Given the description of an element on the screen output the (x, y) to click on. 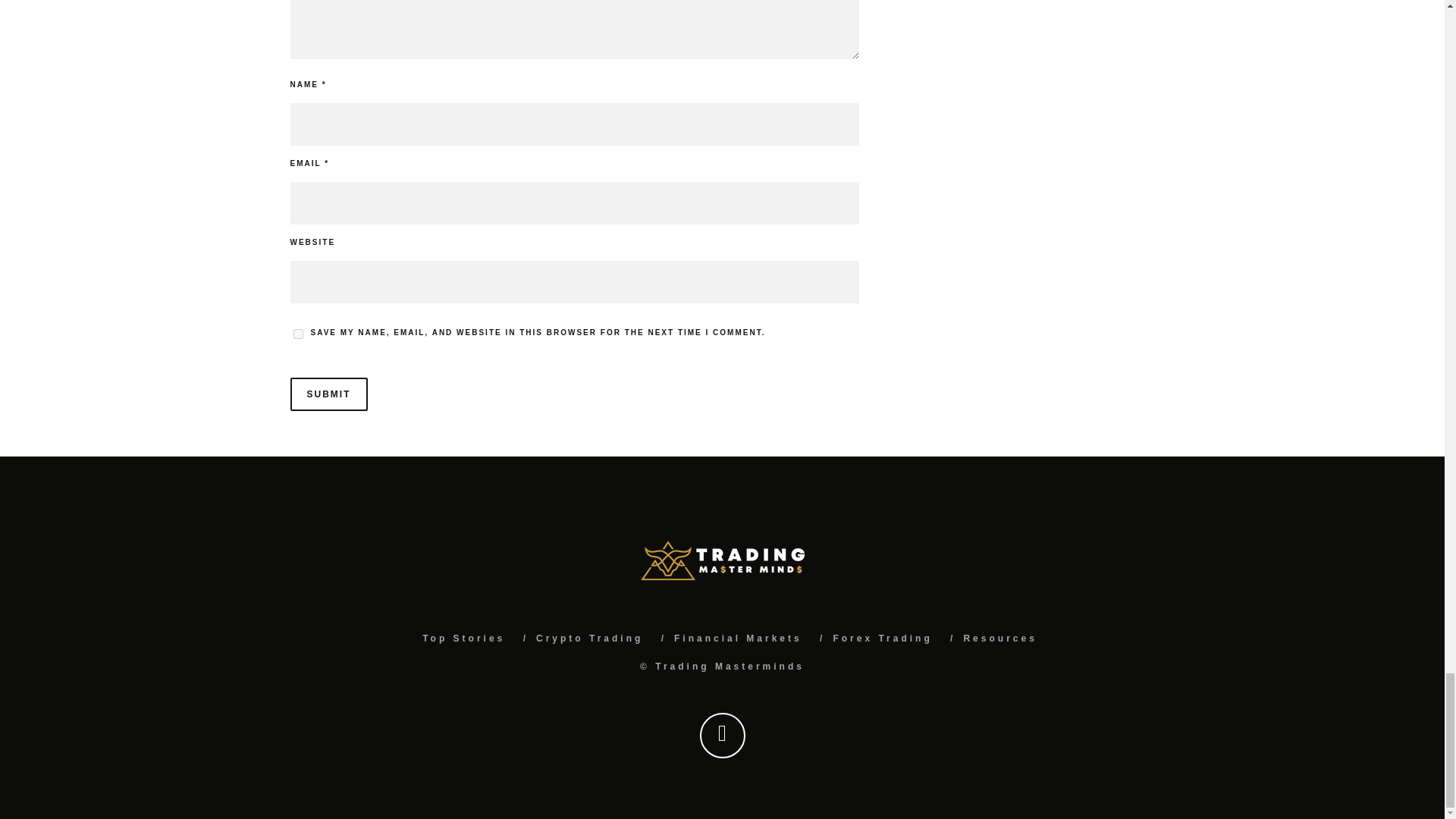
Submit (327, 394)
yes (297, 334)
